Given the description of an element on the screen output the (x, y) to click on. 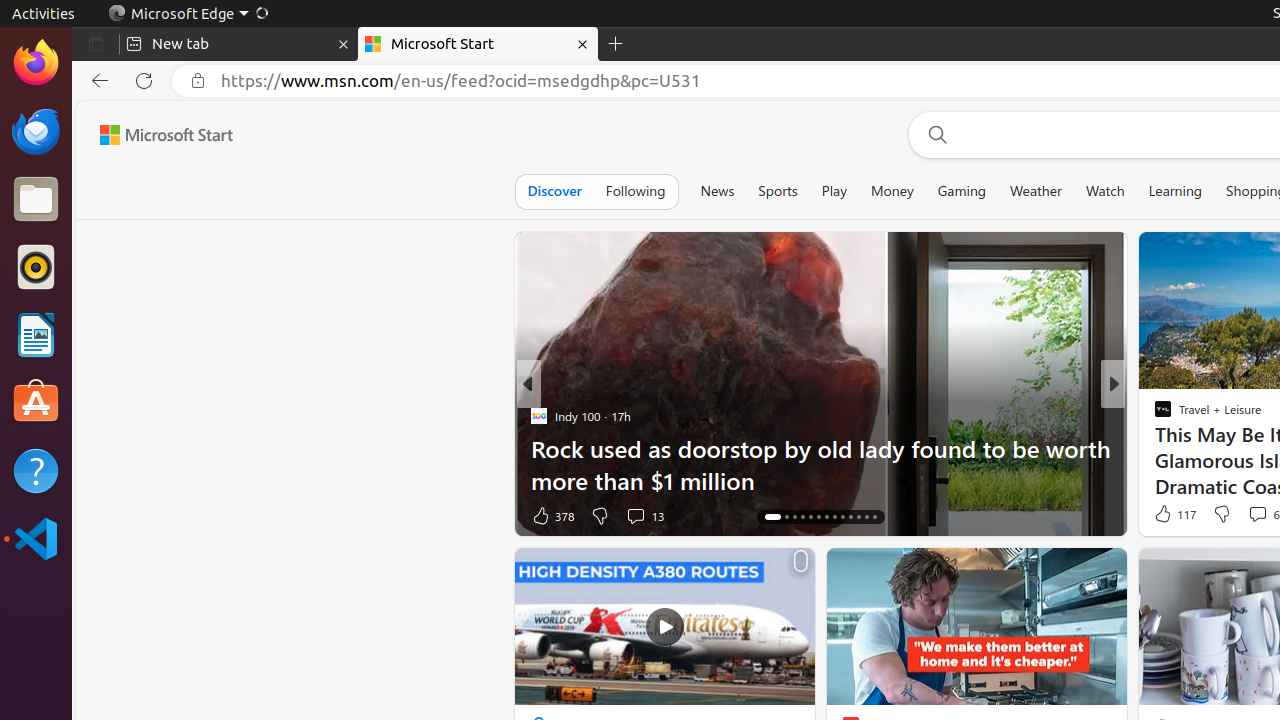
117 Like Element type: toggle-button (1174, 514)
Refresh Element type: push-button (144, 81)
News Element type: link (717, 191)
Microsoft Start Element type: link (166, 135)
Microsoft Start Element type: page-tab (478, 44)
